Given the description of an element on the screen output the (x, y) to click on. 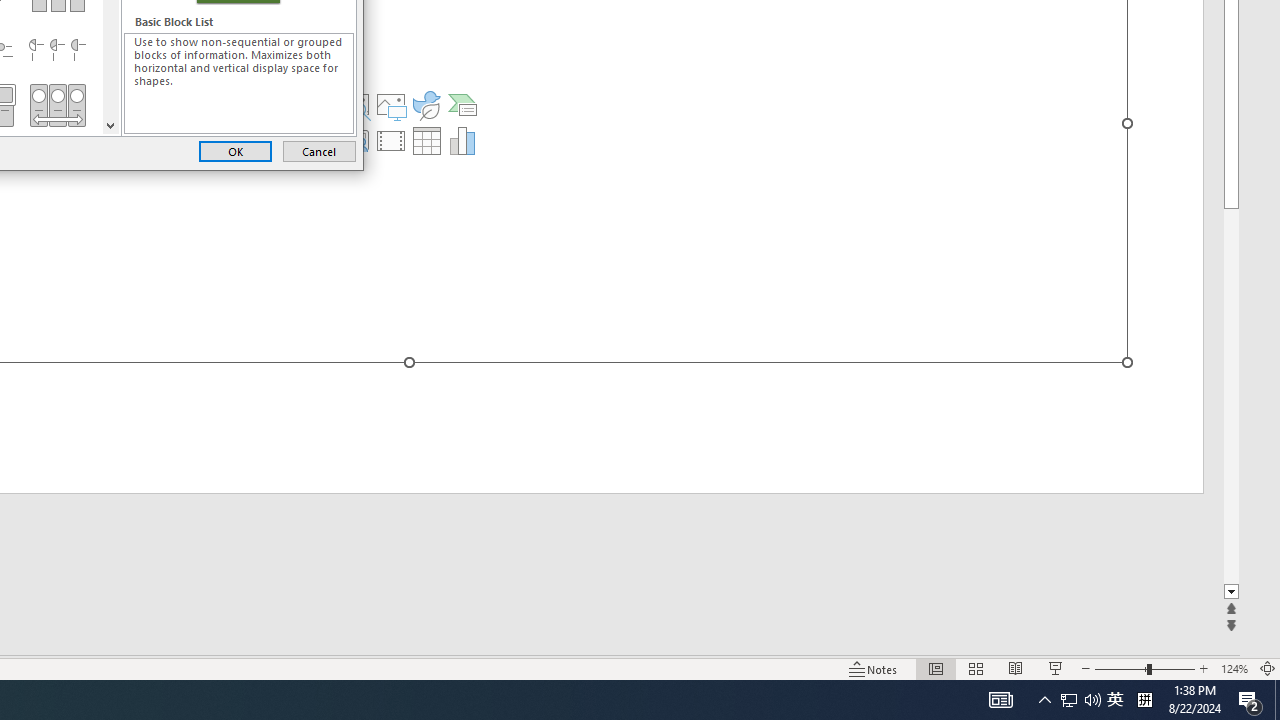
Insert Table (426, 140)
Insert Video (391, 140)
